Given the description of an element on the screen output the (x, y) to click on. 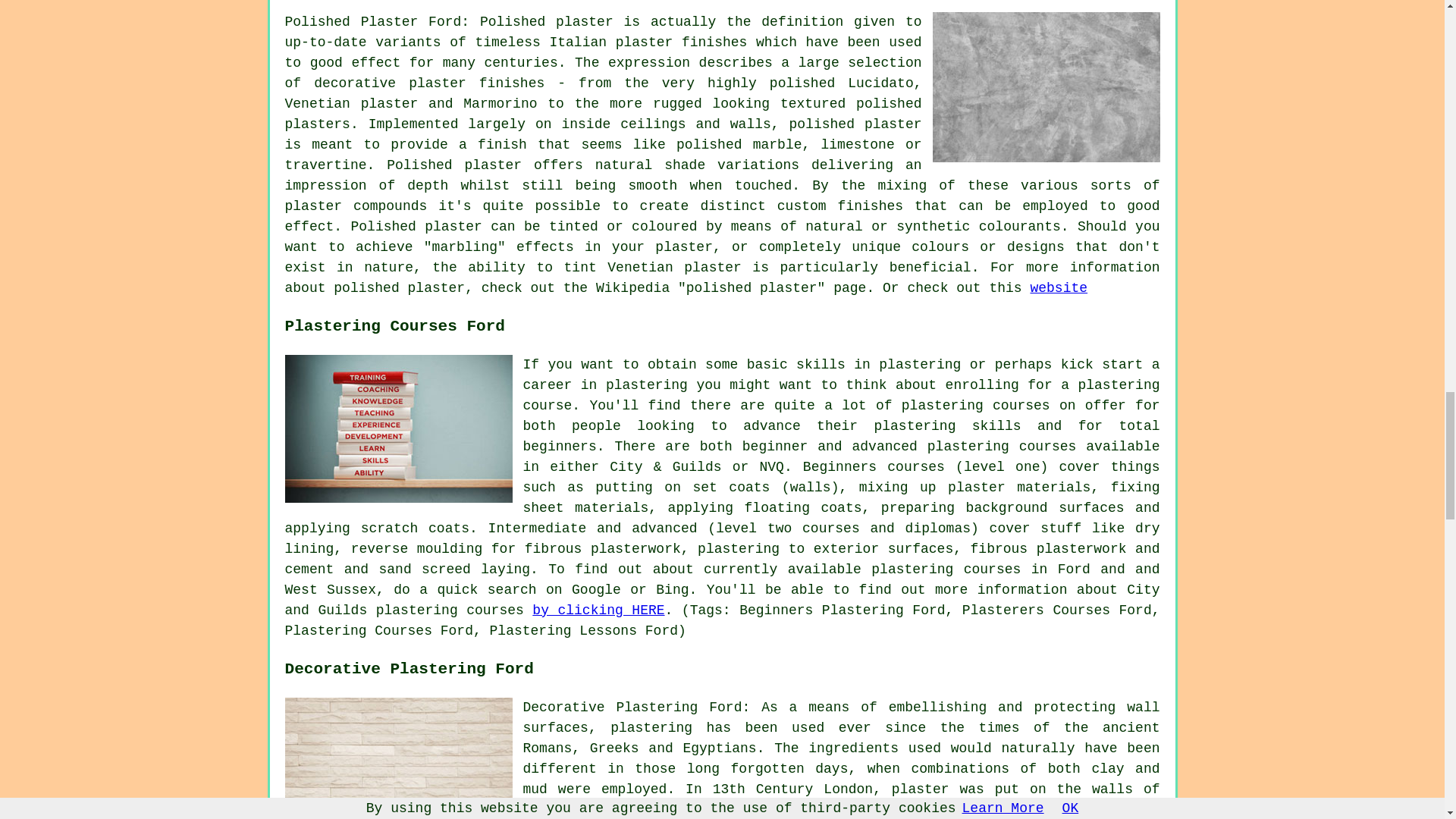
Plastering Courses Ford West Sussex (398, 428)
Polished Plaster Ford (1046, 87)
Decorative Plastering Ford (398, 758)
